Given the description of an element on the screen output the (x, y) to click on. 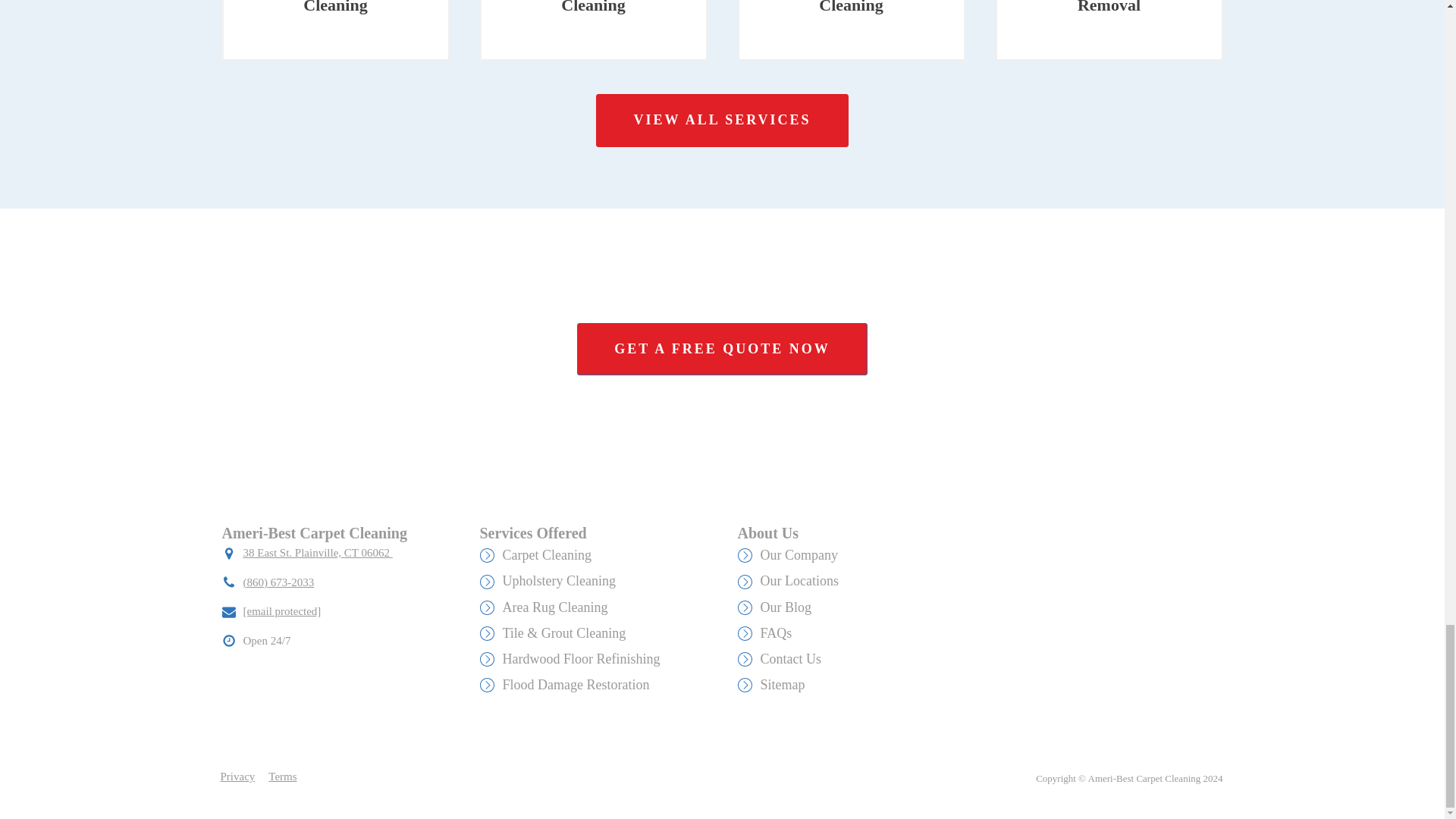
Professional Carpet Cleaning (334, 30)
Carpet Cleaning (546, 555)
VIEW ALL SERVICES (721, 120)
38 East St. Plainville, CT 06062  (317, 553)
Expert Area Rug Cleaning (849, 30)
GET A FREE QUOTE NOW (721, 348)
Furniture Upholstery Cleaning (592, 30)
